Given the description of an element on the screen output the (x, y) to click on. 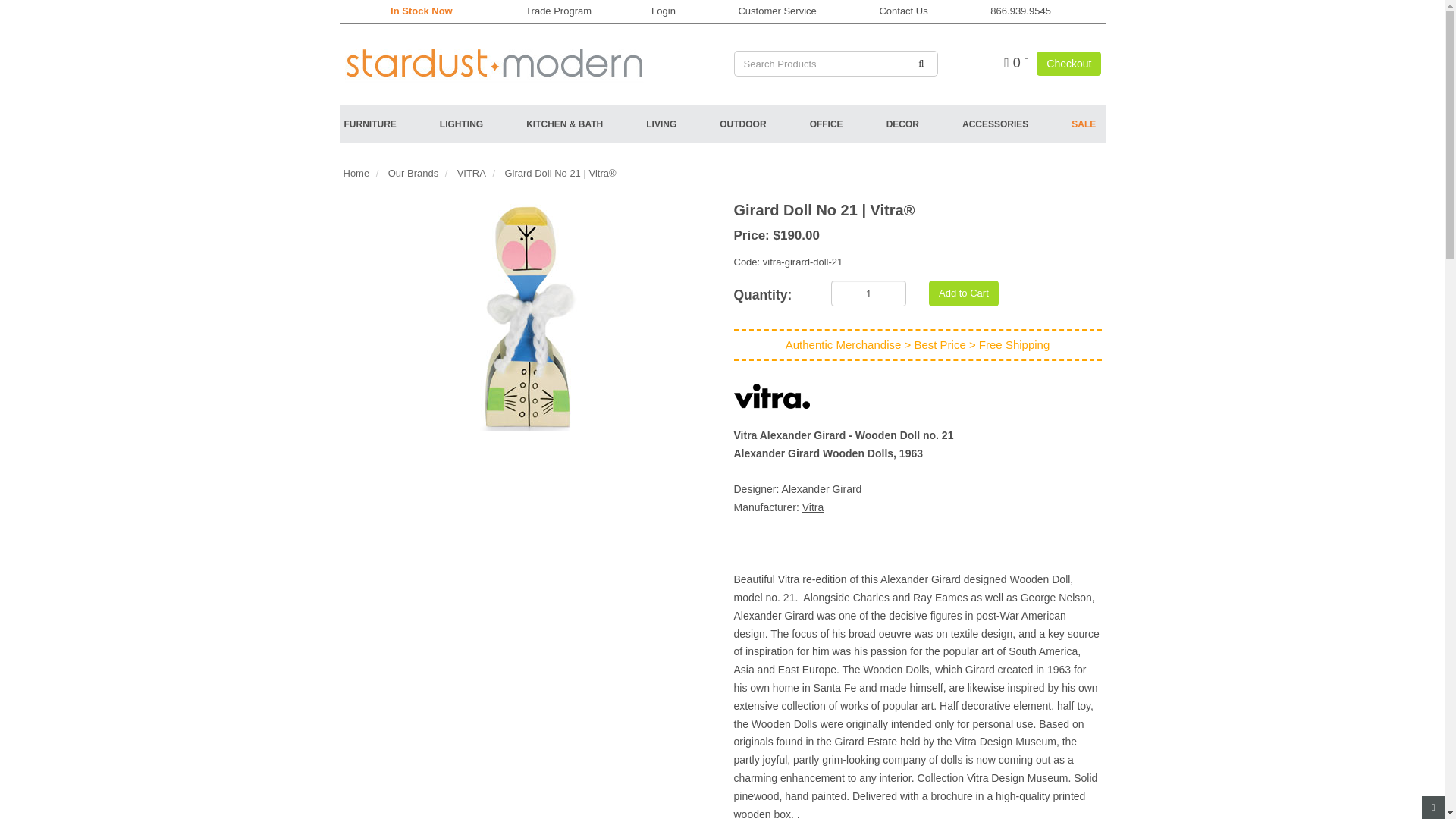
Contact Us (903, 10)
Login (662, 10)
In Stock Now (421, 10)
LIGHTING (482, 124)
Customer Service (776, 10)
Go to the Home page. (496, 58)
FURNITURE (391, 124)
Checkout (1068, 63)
Trade Program (558, 10)
Quantity (770, 291)
